Given the description of an element on the screen output the (x, y) to click on. 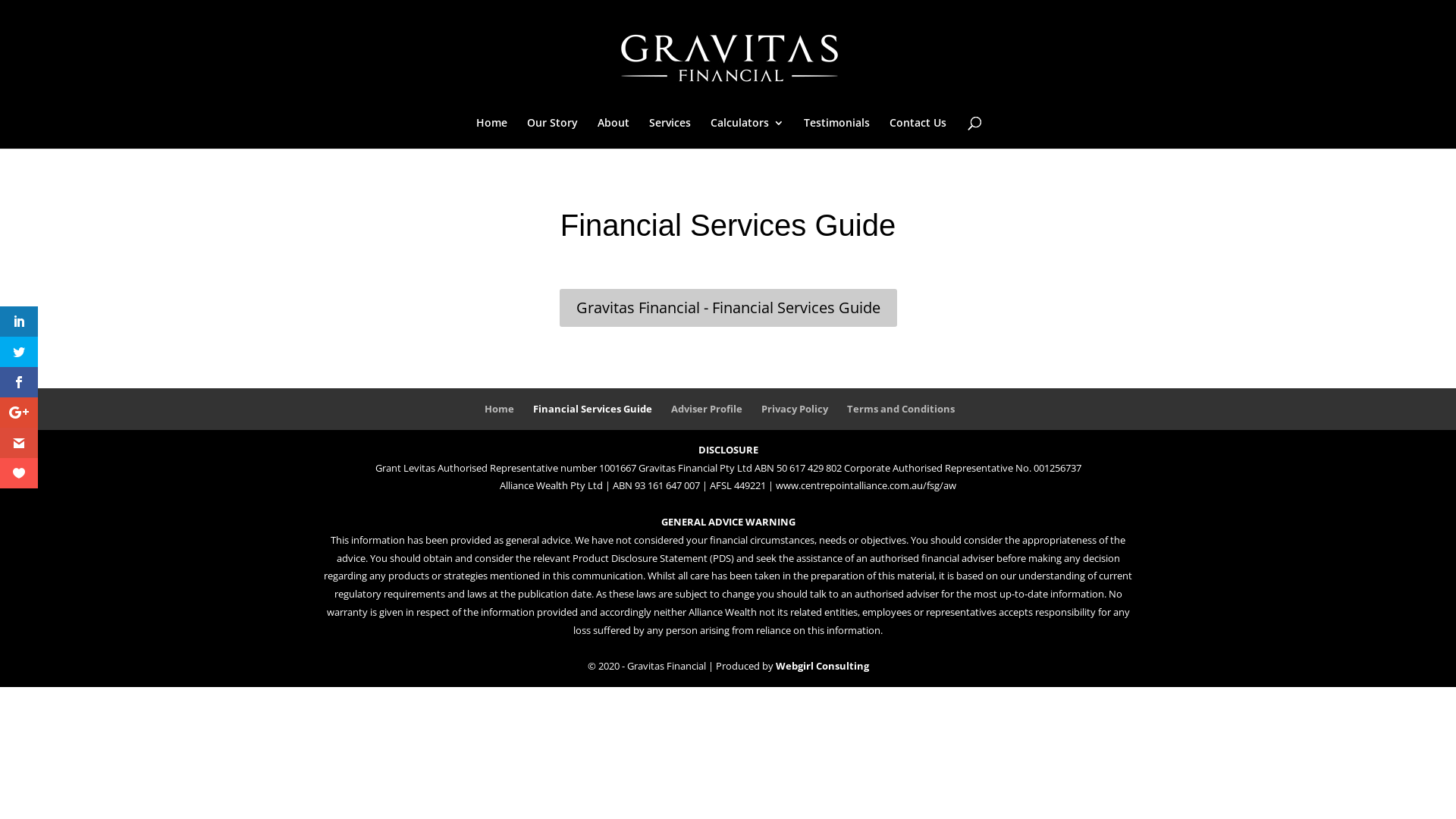
Testimonials Element type: text (836, 132)
Contact Us Element type: text (917, 132)
About Element type: text (613, 132)
Adviser Profile Element type: text (706, 408)
Financial Services Guide Element type: text (592, 408)
Privacy Policy Element type: text (794, 408)
Gravitas Financial - Financial Services Guide Element type: text (728, 307)
Terms and Conditions Element type: text (900, 408)
Our Story Element type: text (552, 132)
Home Element type: text (499, 408)
Home Element type: text (491, 132)
Calculators Element type: text (747, 132)
Services Element type: text (669, 132)
Webgirl Consulting Element type: text (821, 665)
